Given the description of an element on the screen output the (x, y) to click on. 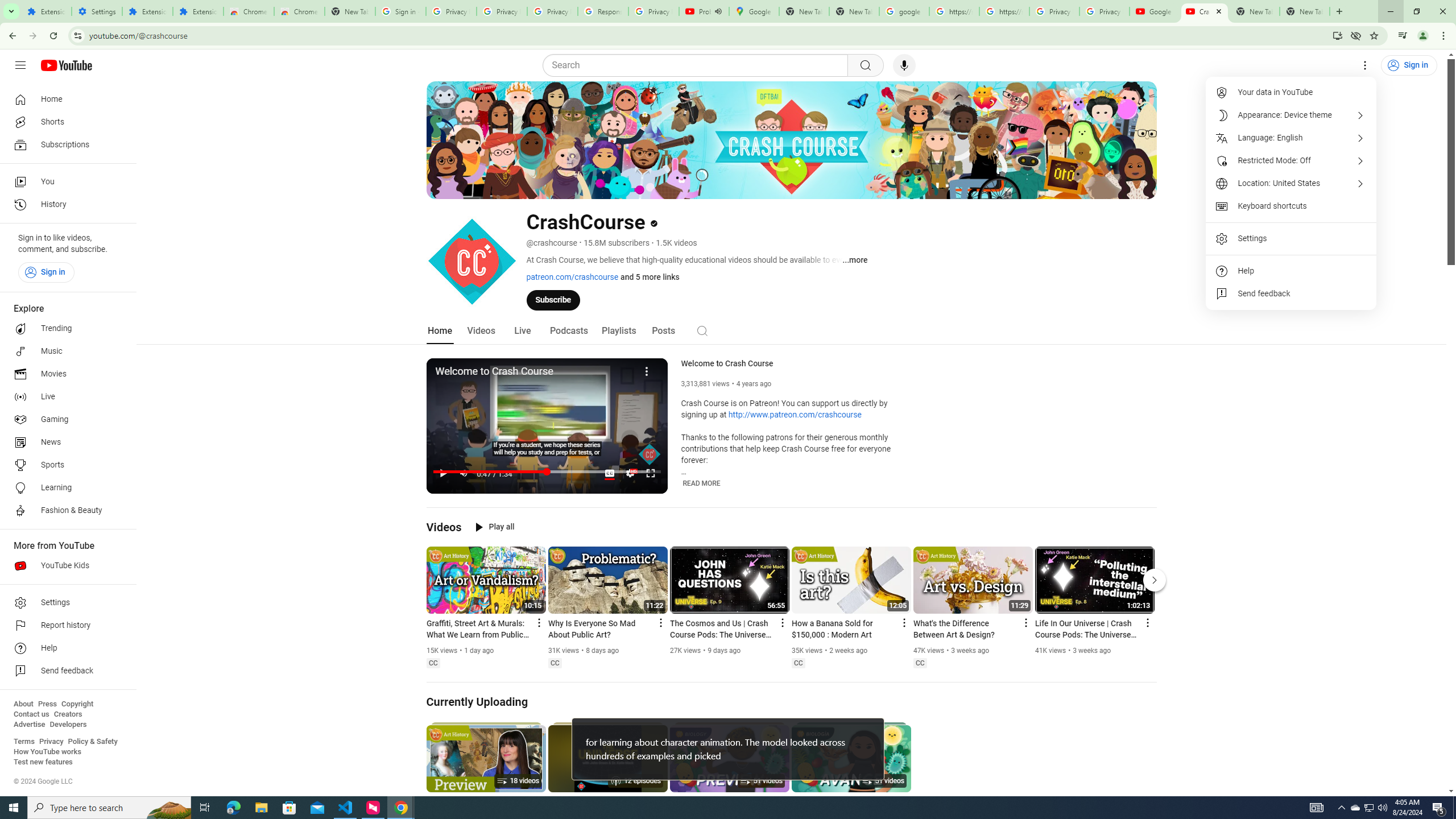
Music (64, 350)
Location: United States (1291, 182)
Search with your voice (903, 65)
History (64, 204)
Channel watermark (649, 454)
New Tab (1304, 11)
Welcome to Crash Course (795, 363)
Play all (494, 526)
Language: English (1291, 137)
Action menu (1146, 622)
